Given the description of an element on the screen output the (x, y) to click on. 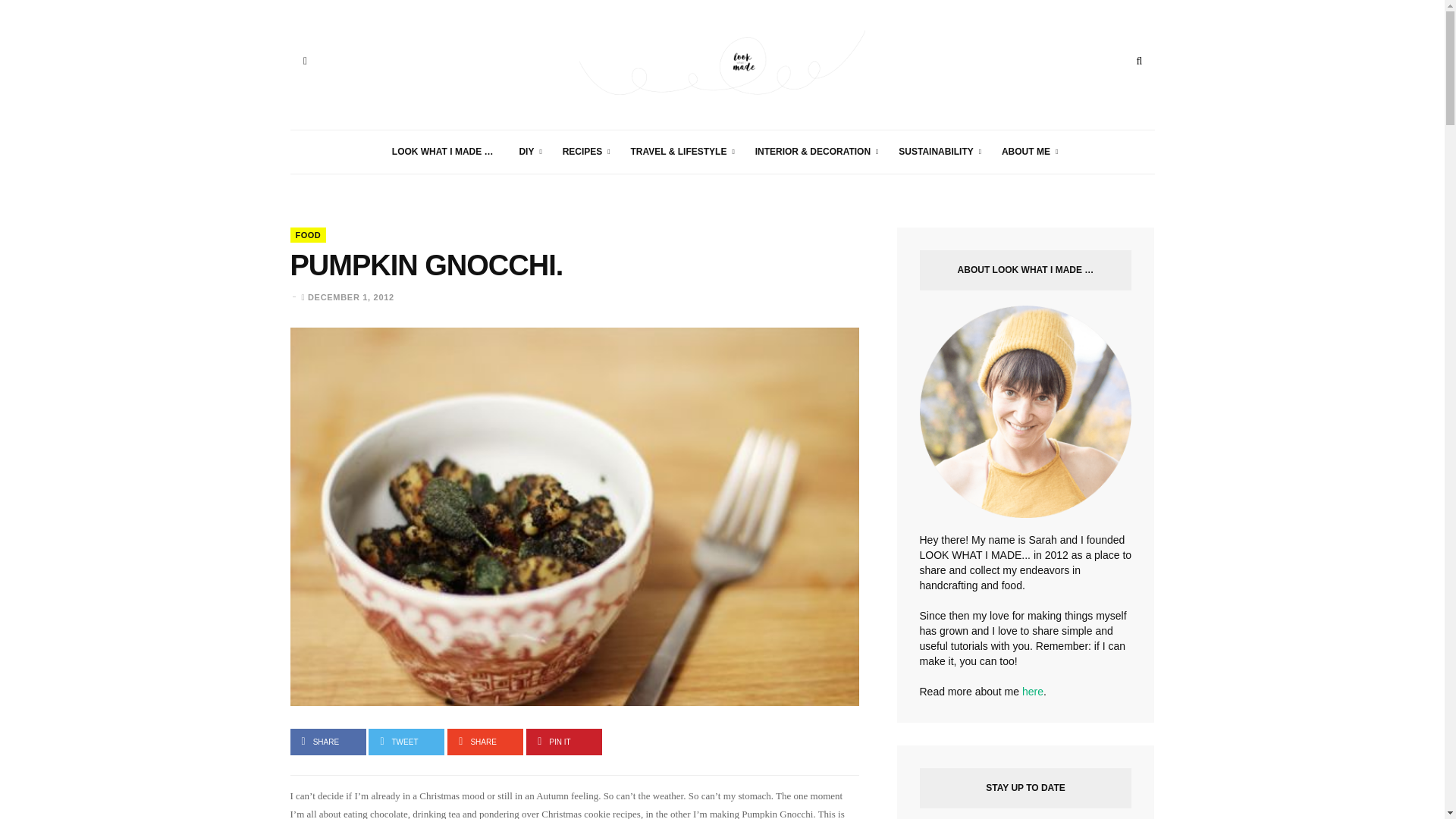
RECIPES (583, 151)
Search (1139, 60)
DIY (526, 151)
